Given the description of an element on the screen output the (x, y) to click on. 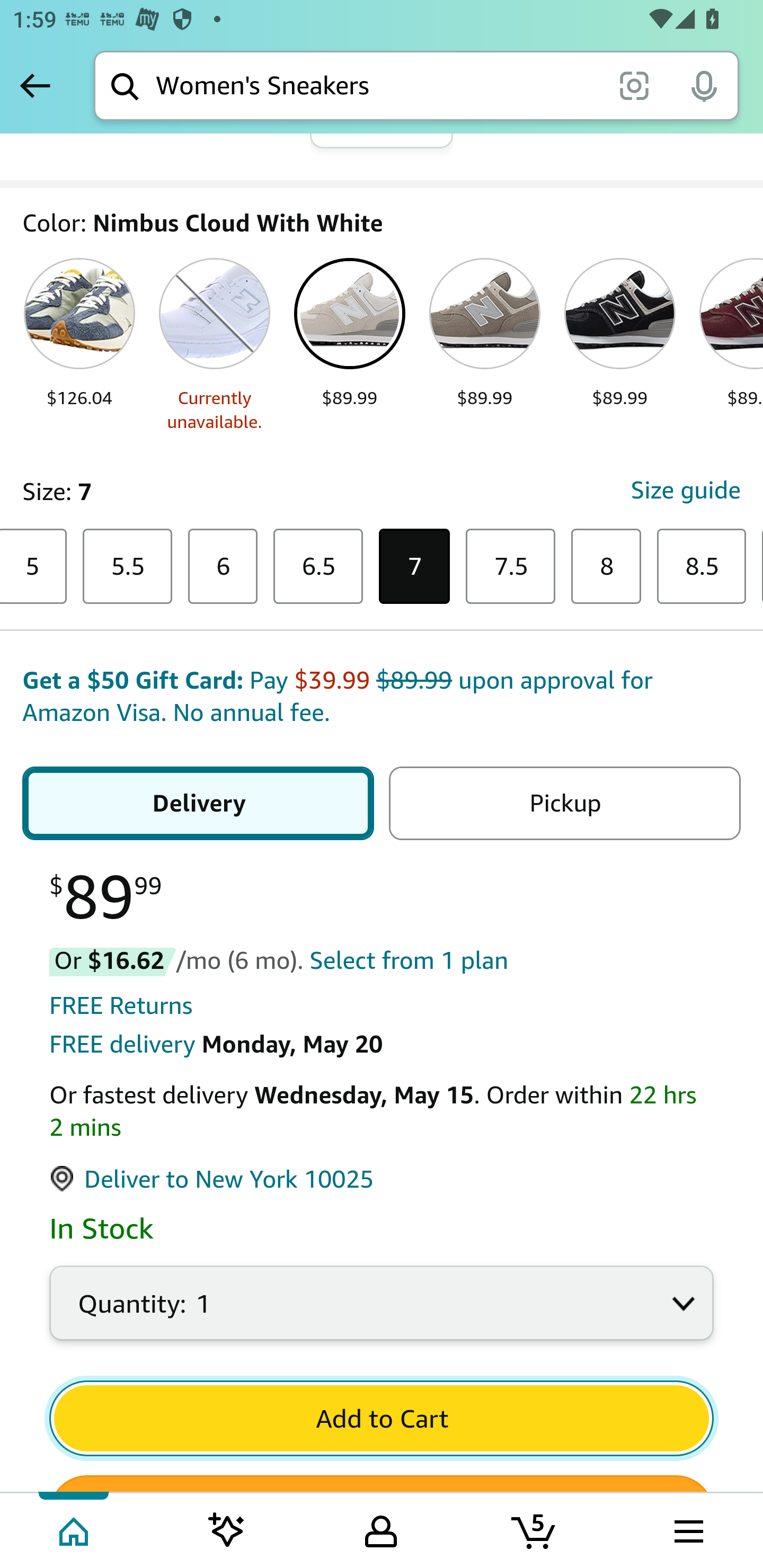
Back (35, 85)
scan it (633, 85)
Size guide (684, 491)
5 (33, 567)
5.5 (126, 567)
6 (222, 567)
6.5 (317, 567)
7 (414, 567)
7.5 (510, 567)
8 (606, 567)
8.5 (701, 567)
Delivery (198, 804)
Pickup (564, 804)
Select from 1 plan (408, 961)
FREE Returns (121, 1006)
FREE delivery (122, 1044)
Deliver to New York 10025‌ (212, 1180)
1 (381, 1313)
Add to Cart (381, 1418)
Home Tab 1 of 5 (75, 1529)
Inspire feed Tab 2 of 5 (227, 1529)
Your Amazon.com Tab 3 of 5 (380, 1529)
Cart 5 items Tab 4 of 5 5 (534, 1529)
Browse menu Tab 5 of 5 (687, 1529)
